Given the description of an element on the screen output the (x, y) to click on. 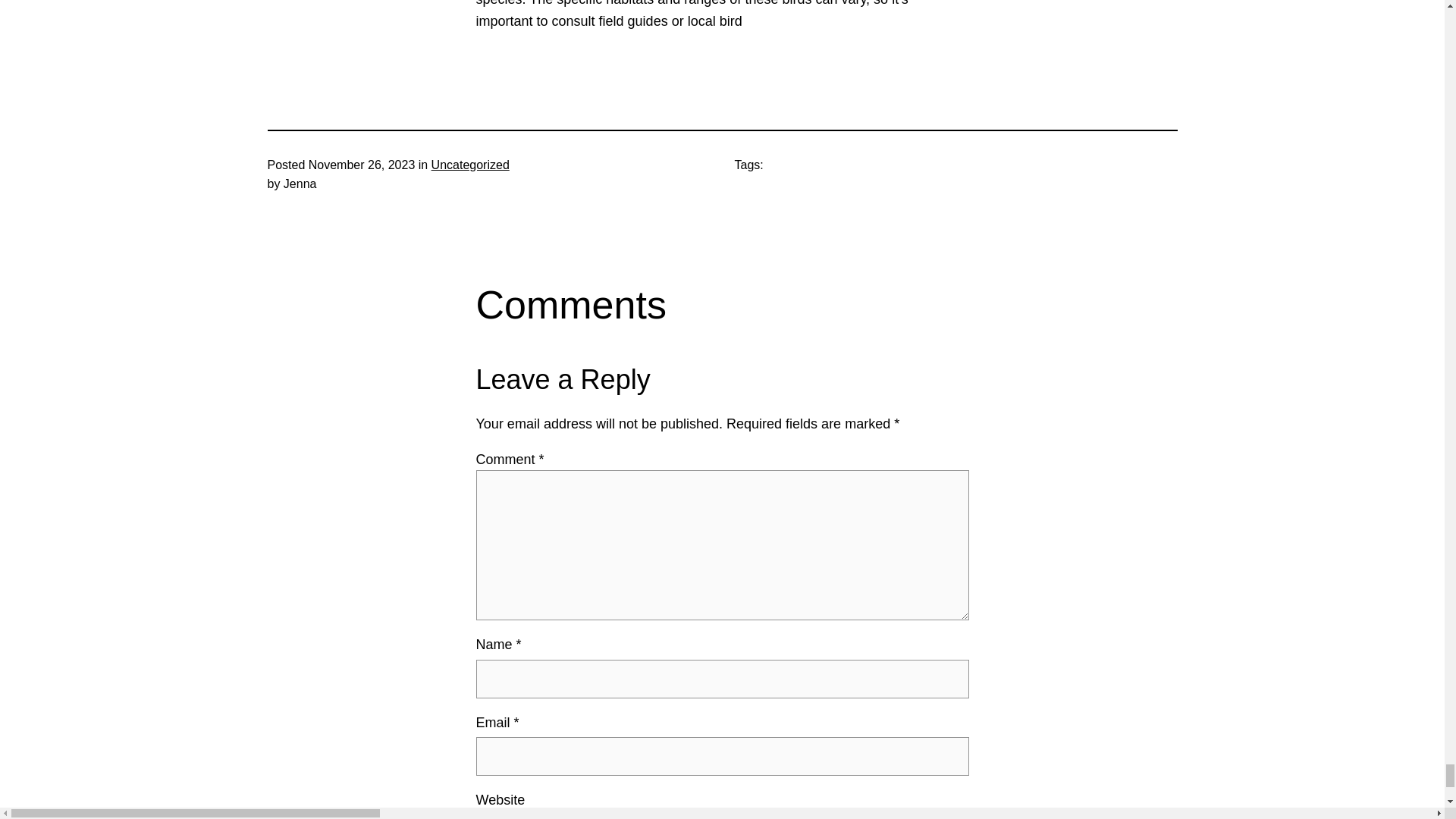
Uncategorized (469, 164)
